Given the description of an element on the screen output the (x, y) to click on. 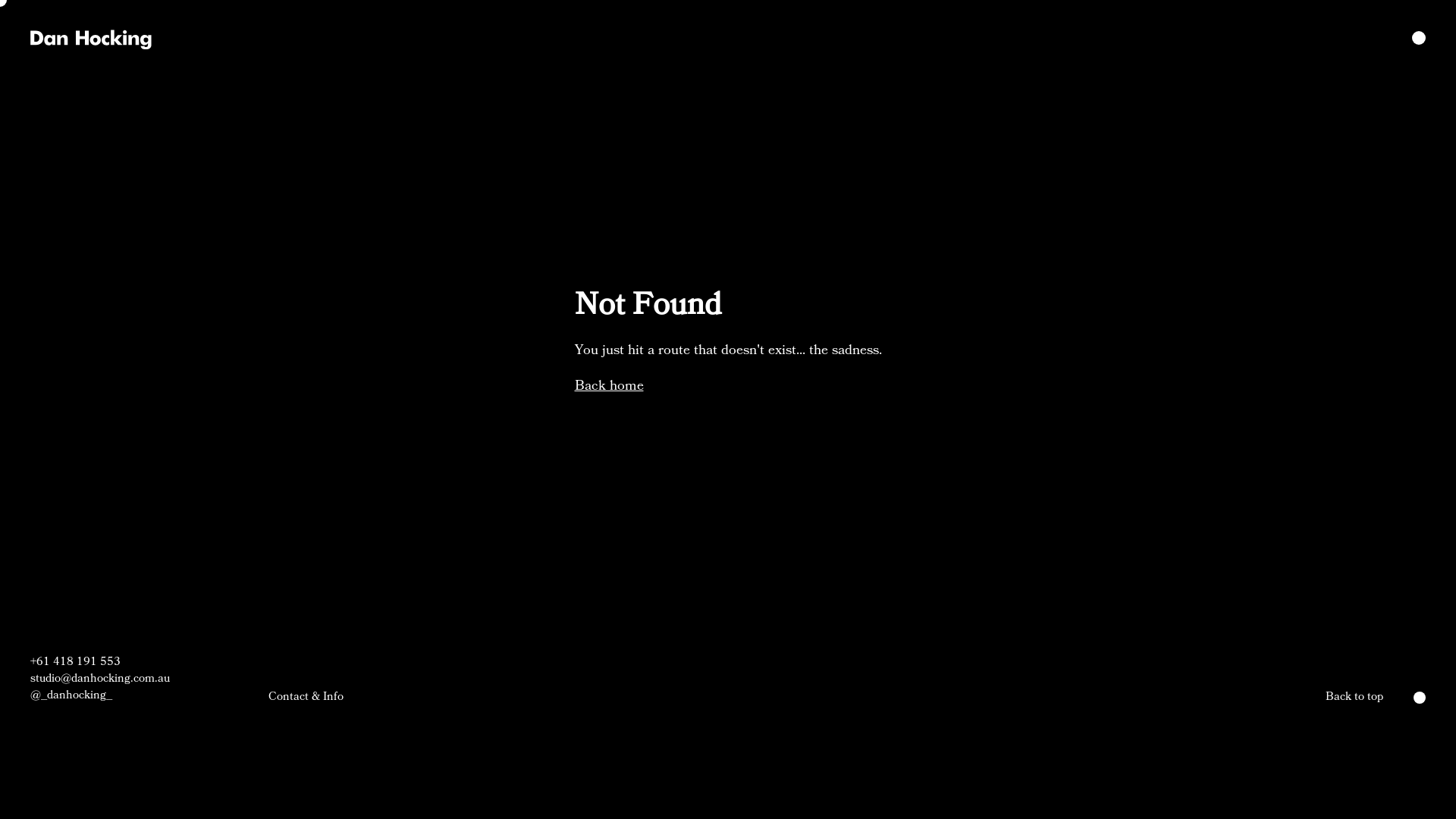
Site Name Element type: hover (90, 37)
Back home Element type: text (608, 385)
studio@danhocking.com.au Element type: text (99, 678)
Contact & Info Element type: text (305, 696)
@_danhocking_ Element type: text (99, 695)
+61 418 191 553 Element type: text (99, 661)
